Given the description of an element on the screen output the (x, y) to click on. 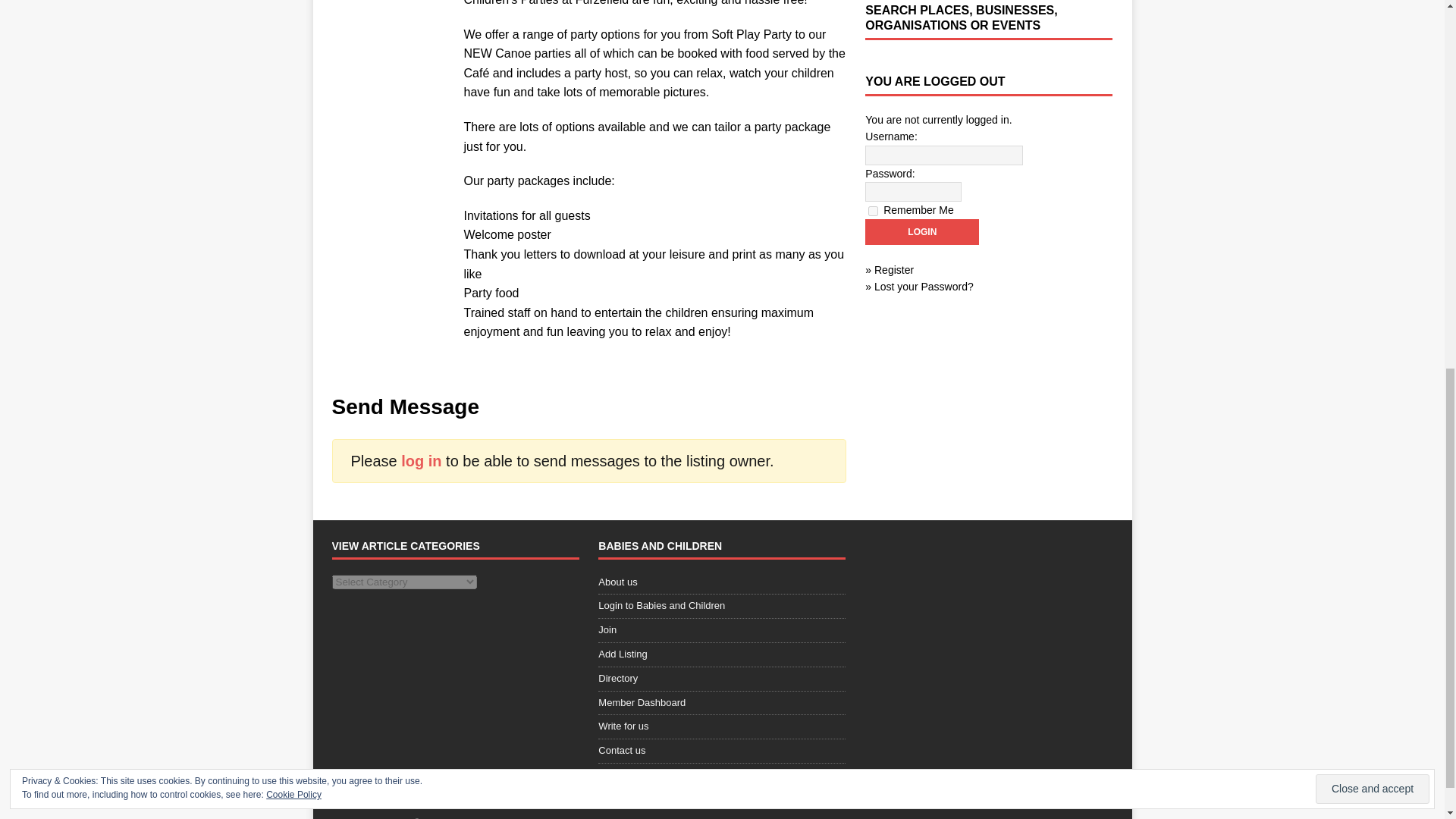
Join (721, 630)
Write for us (721, 726)
LOGIN TO BABIES AND CHILDREN (964, 793)
Contact us (721, 750)
Login to Babies and Children (721, 606)
Login (921, 231)
JOIN (855, 793)
Lost your Password? (924, 286)
About us (721, 584)
Cookie Policy (293, 95)
